Given the description of an element on the screen output the (x, y) to click on. 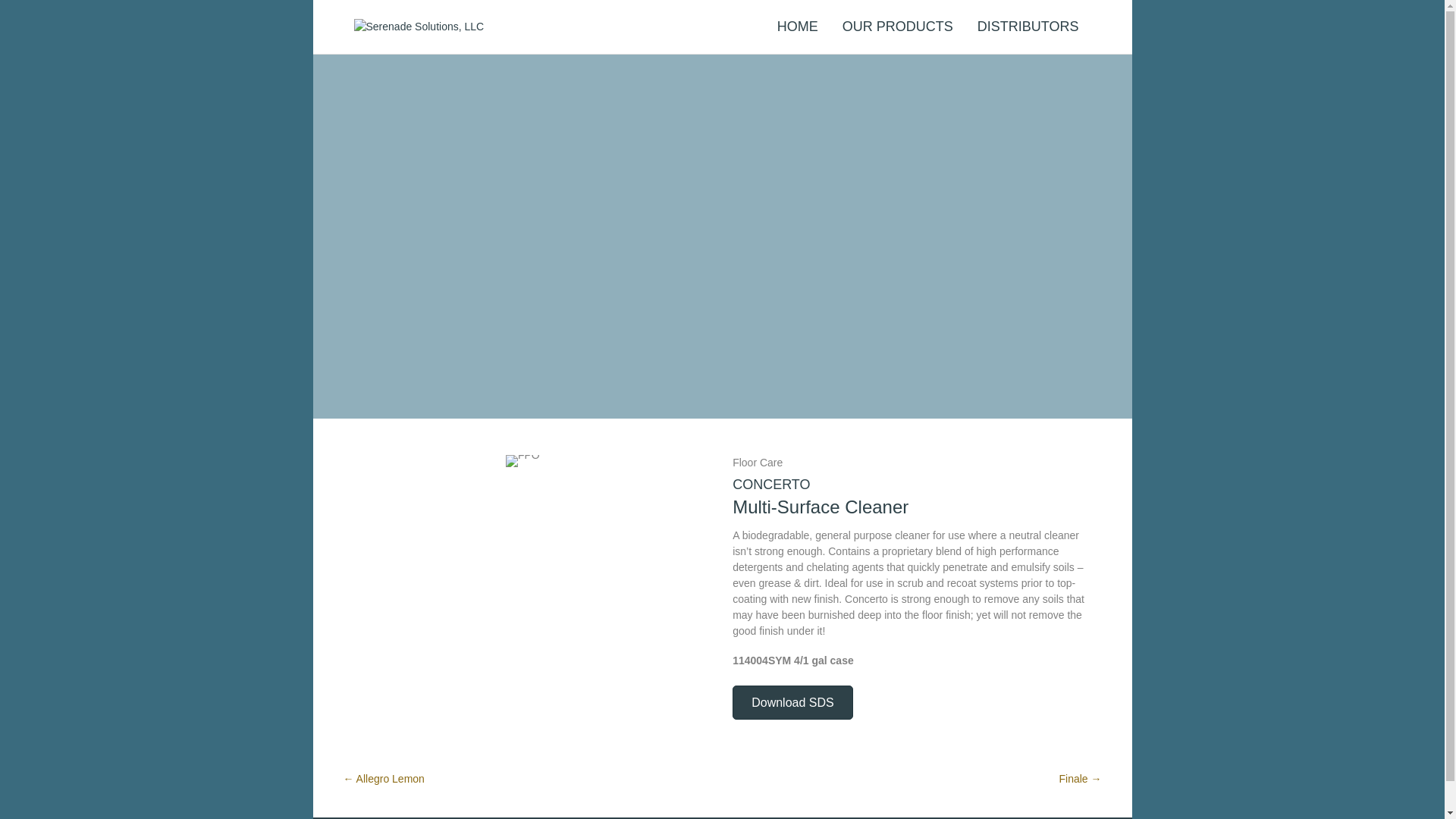
DISTRIBUTORS (1027, 26)
OUR PRODUCTS (897, 26)
Download SDS (792, 702)
HOME (797, 26)
FPO (522, 460)
